Given the description of an element on the screen output the (x, y) to click on. 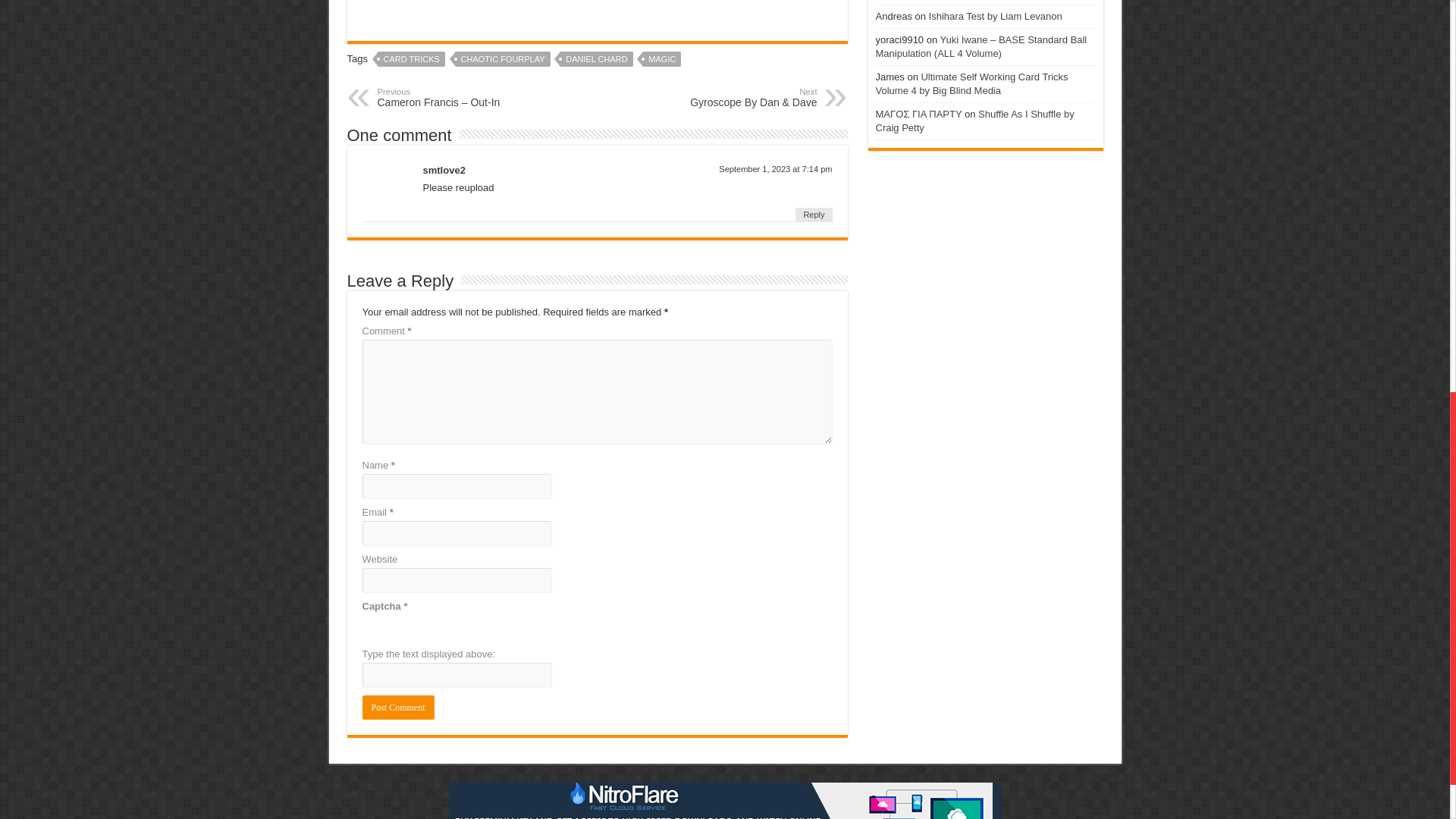
CHAOTIC FOURPLAY (502, 58)
Post Comment (397, 707)
DANIEL CHARD (596, 58)
September 1, 2023 at 7:14 pm (775, 168)
Reply (812, 214)
CARD TRICKS (411, 58)
MAGIC (662, 58)
